Given the description of an element on the screen output the (x, y) to click on. 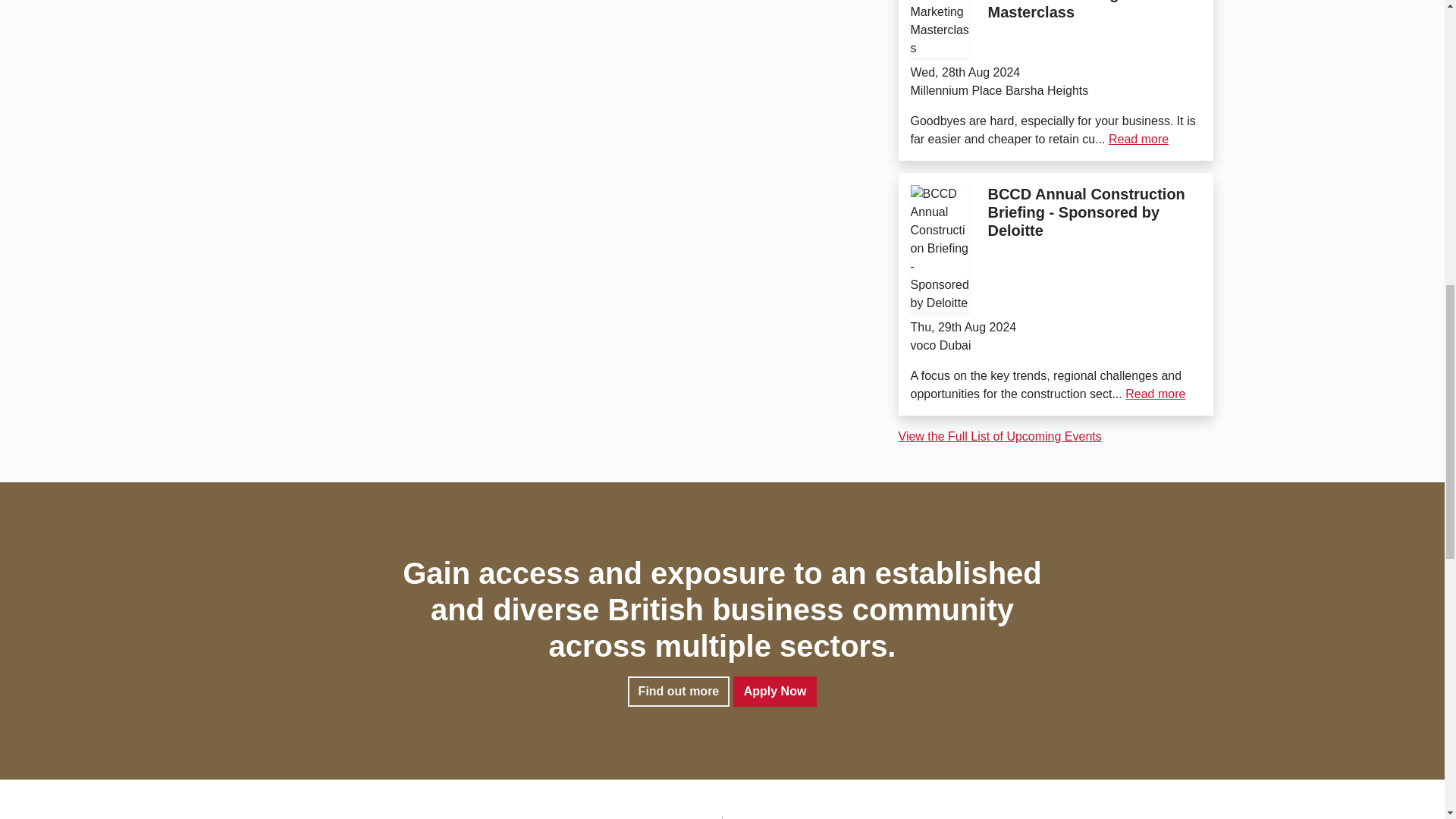
Read more (1138, 138)
Apply Now (774, 691)
Read more (1155, 393)
Find out more (678, 691)
View the Full List of Upcoming Events (999, 436)
